Given the description of an element on the screen output the (x, y) to click on. 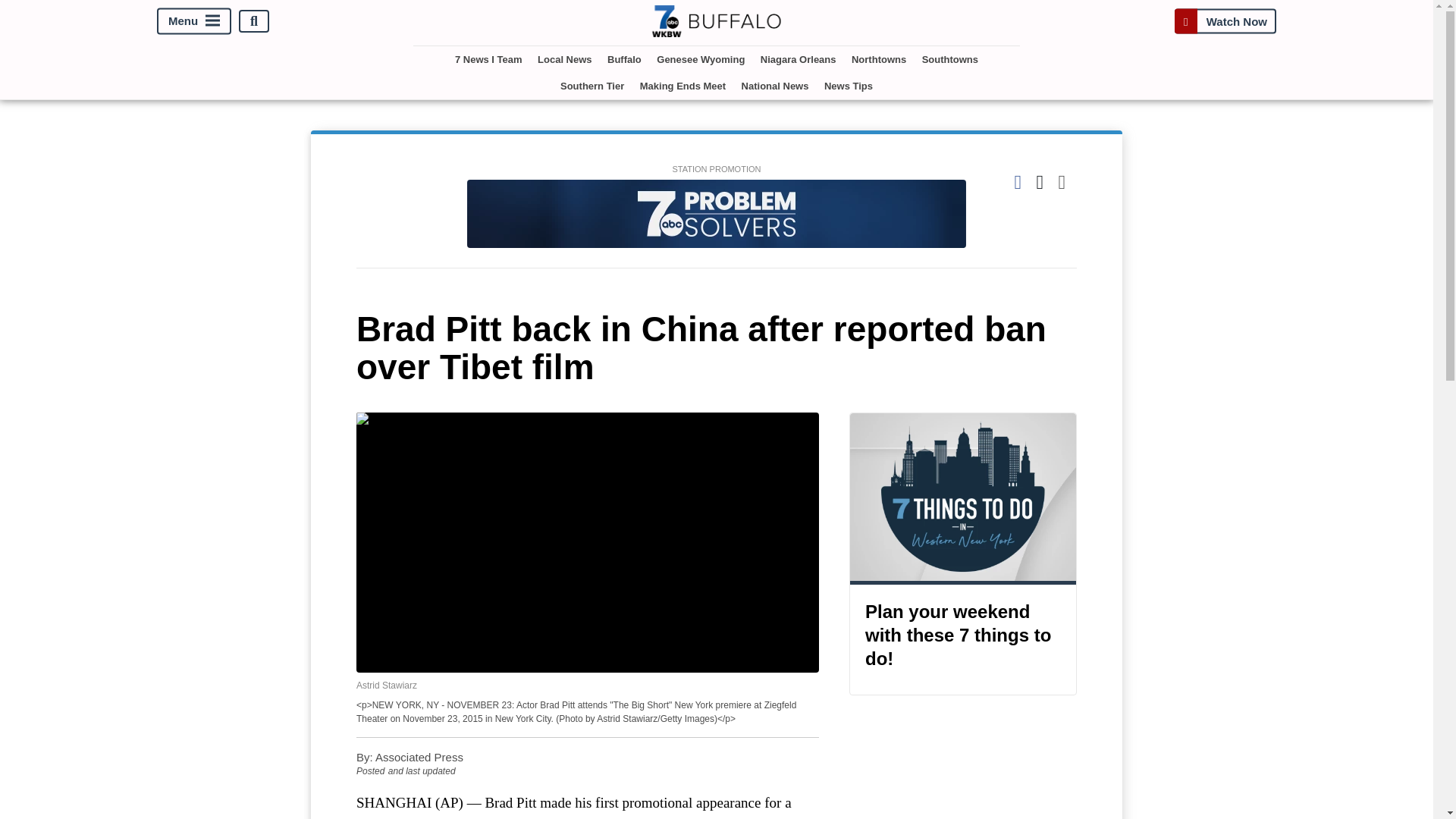
Menu (194, 21)
Watch Now (1224, 21)
